Given the description of an element on the screen output the (x, y) to click on. 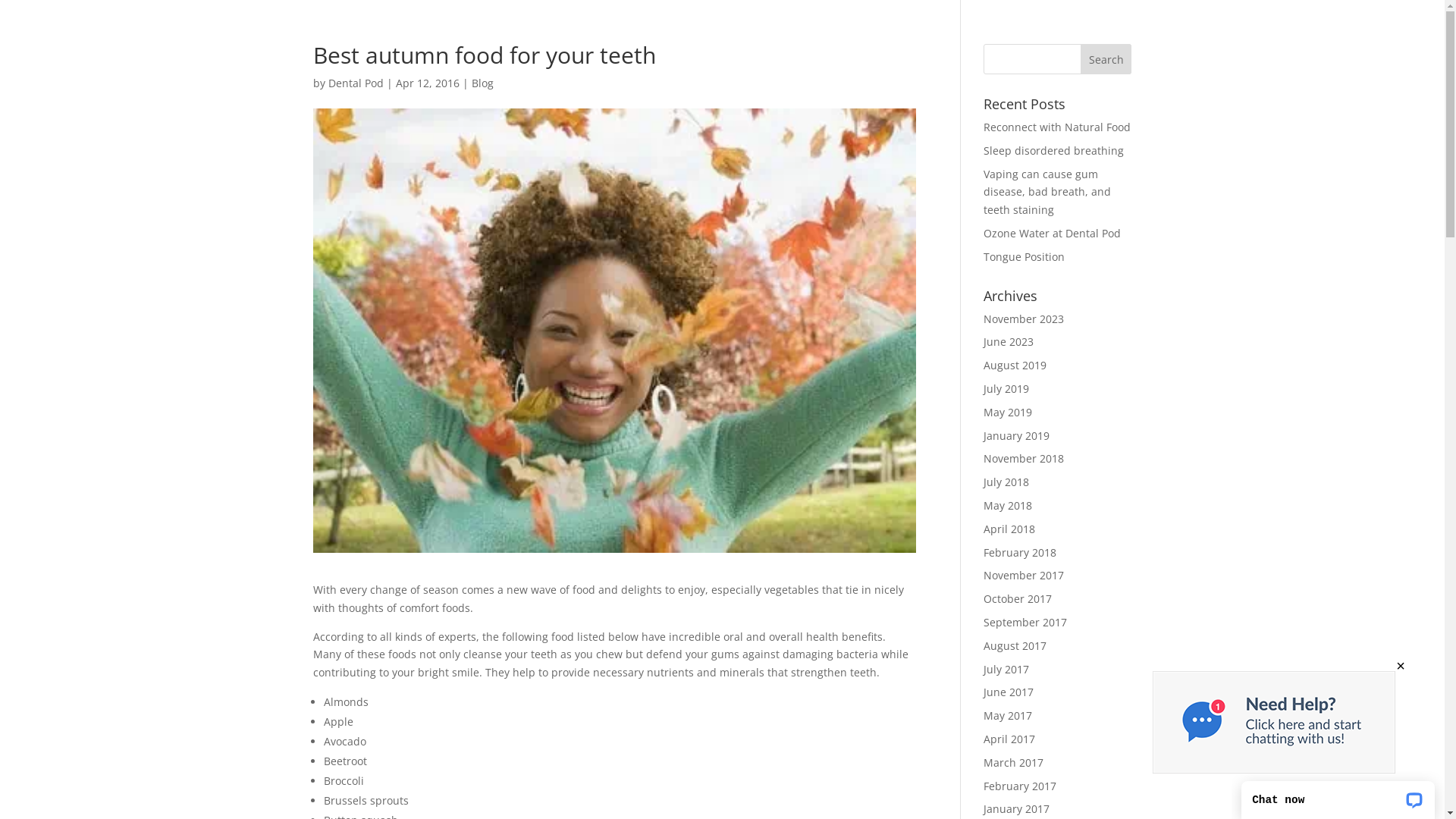
May 2017 Element type: text (1007, 715)
August 2019 Element type: text (1014, 364)
March 2017 Element type: text (1013, 762)
Vaping can cause gum disease, bad breath, and teeth staining Element type: text (1046, 191)
May 2018 Element type: text (1007, 505)
November 2017 Element type: text (1023, 574)
July 2017 Element type: text (1006, 669)
January 2019 Element type: text (1016, 435)
August 2017 Element type: text (1014, 645)
May 2019 Element type: text (1007, 411)
Tongue Position Element type: text (1023, 256)
June 2023 Element type: text (1008, 341)
September 2017 Element type: text (1024, 622)
July 2018 Element type: text (1006, 481)
January 2017 Element type: text (1016, 808)
November 2023 Element type: text (1023, 318)
October 2017 Element type: text (1017, 598)
Dental Pod Element type: text (354, 82)
April 2018 Element type: text (1009, 528)
February 2017 Element type: text (1019, 785)
February 2018 Element type: text (1019, 552)
July 2019 Element type: text (1006, 388)
Search Element type: text (1106, 58)
Reconnect with Natural Food Element type: text (1056, 126)
Sleep disordered breathing Element type: text (1053, 150)
April 2017 Element type: text (1009, 738)
November 2018 Element type: text (1023, 458)
Blog Element type: text (482, 82)
June 2017 Element type: text (1008, 691)
Ozone Water at Dental Pod Element type: text (1051, 232)
